Given the description of an element on the screen output the (x, y) to click on. 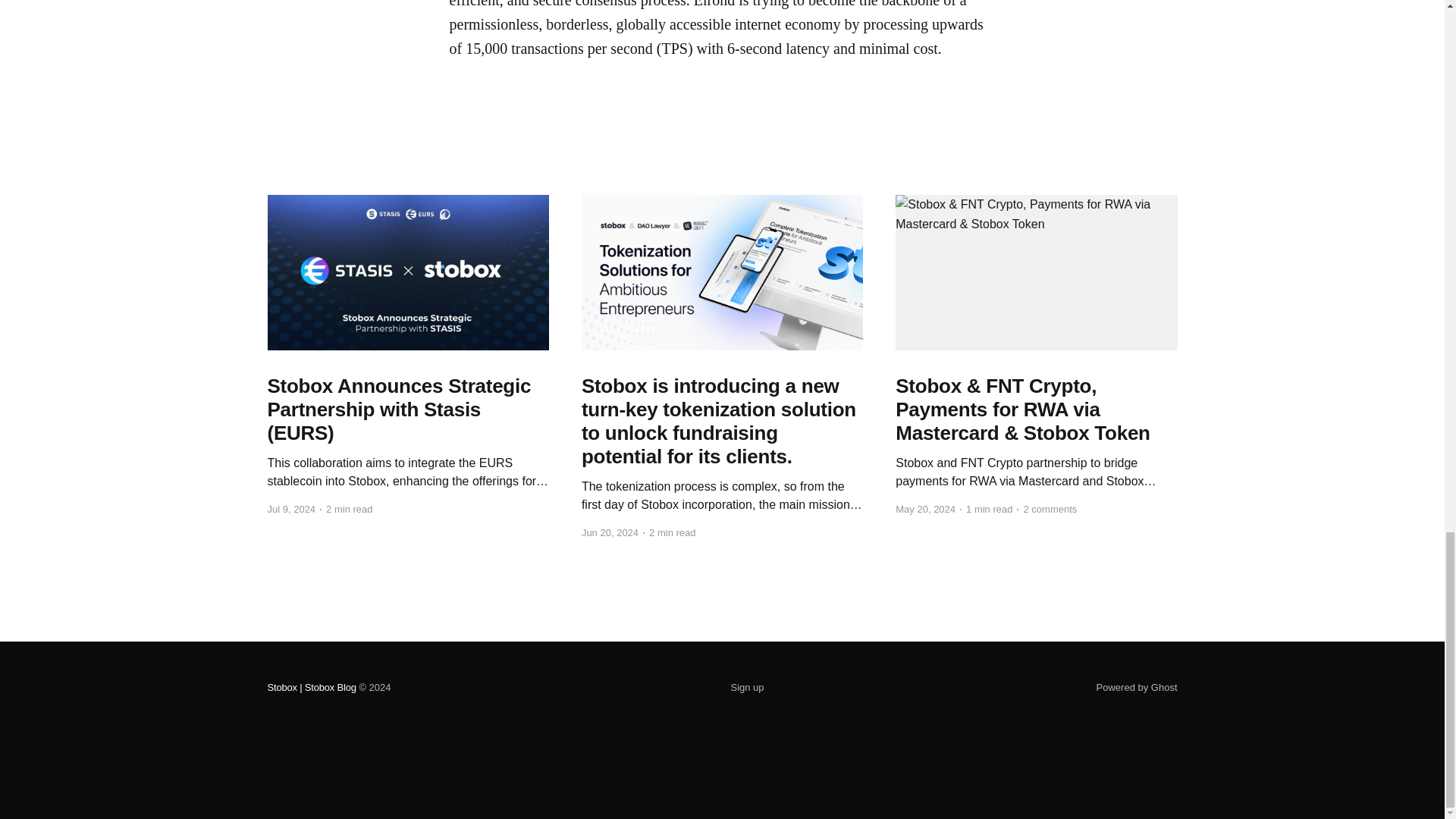
Sign up (746, 687)
Powered by Ghost (1136, 686)
